Given the description of an element on the screen output the (x, y) to click on. 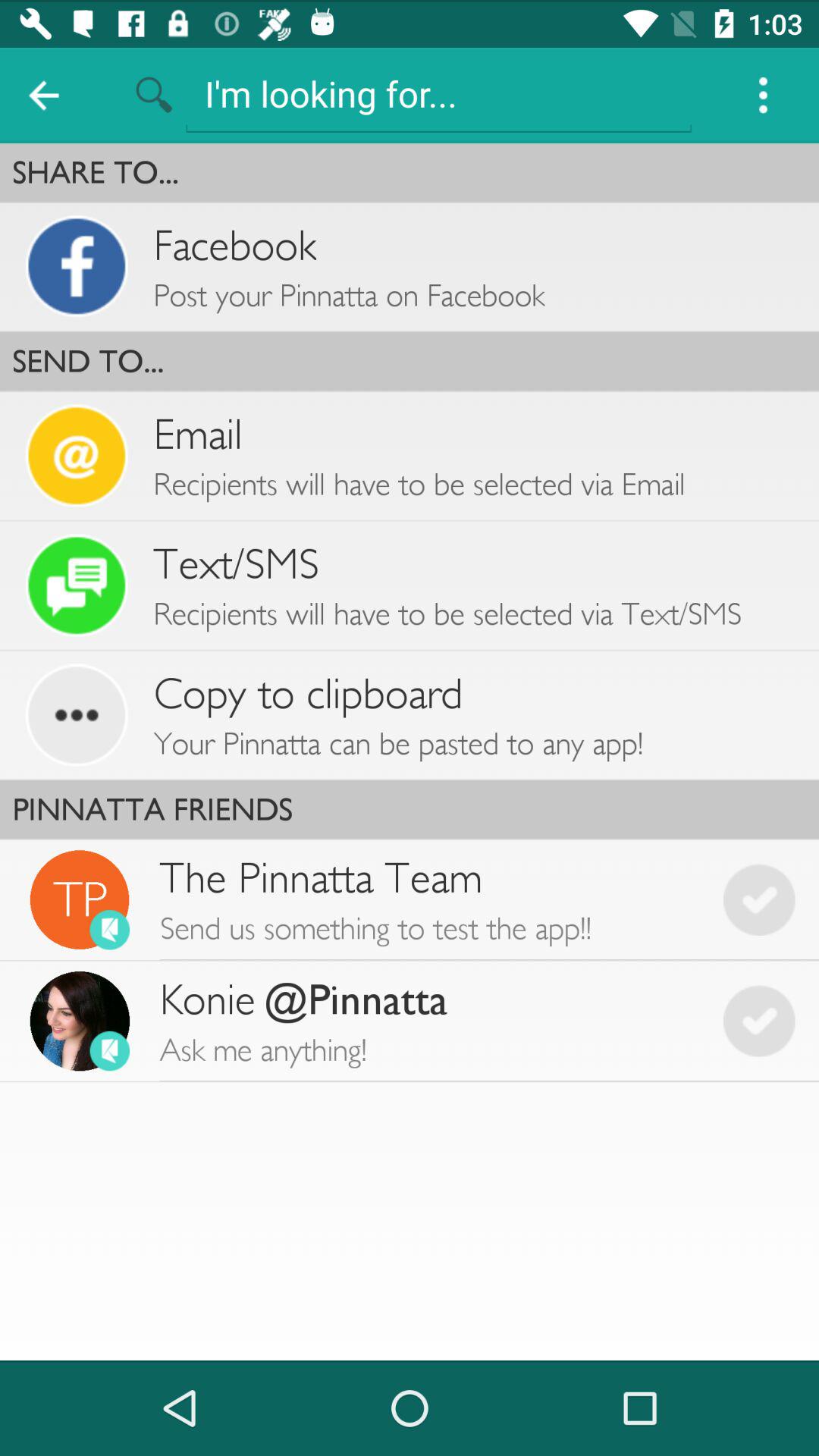
turn off copy to clipboard item (307, 693)
